Given the description of an element on the screen output the (x, y) to click on. 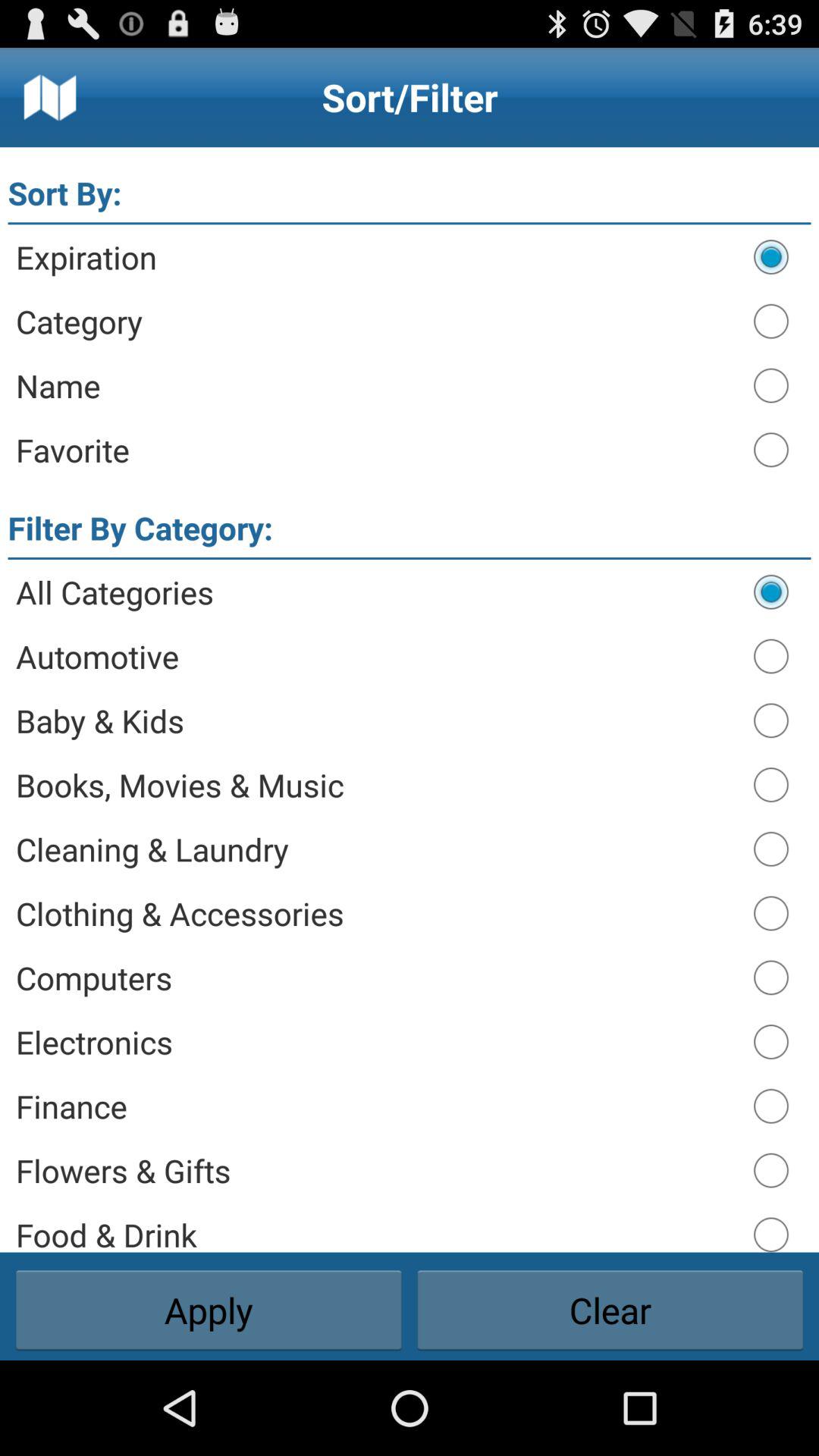
turn off finance icon (377, 1106)
